Given the description of an element on the screen output the (x, y) to click on. 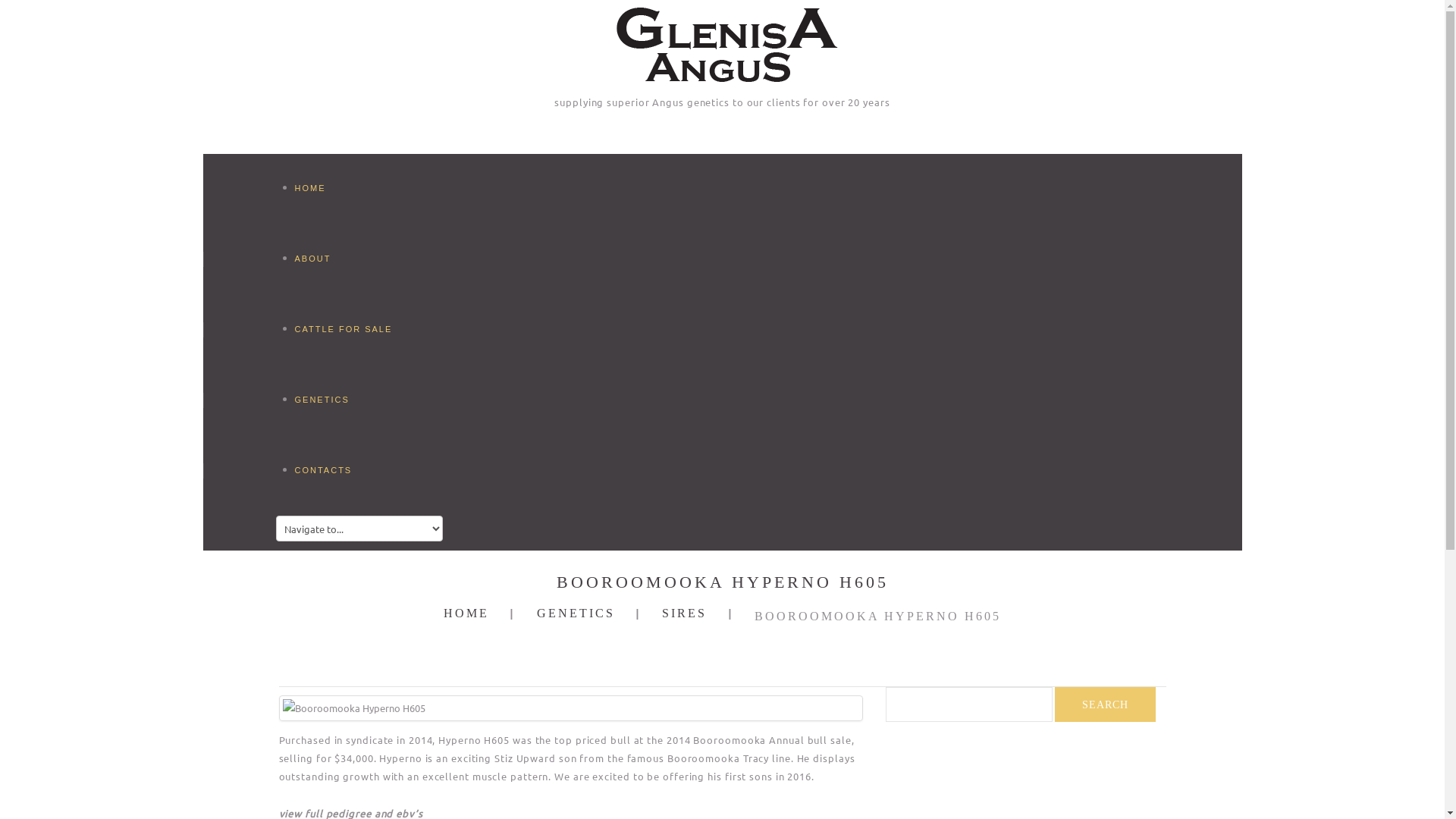
GENETICS Element type: text (368, 397)
search Element type: text (1104, 704)
CONTACTS Element type: text (368, 468)
CATTLE FOR SALE Element type: text (368, 327)
HOME Element type: text (368, 186)
SIRES Element type: text (684, 612)
GENETICS Element type: text (575, 612)
HOME Element type: text (466, 612)
ABOUT Element type: text (368, 256)
